Given the description of an element on the screen output the (x, y) to click on. 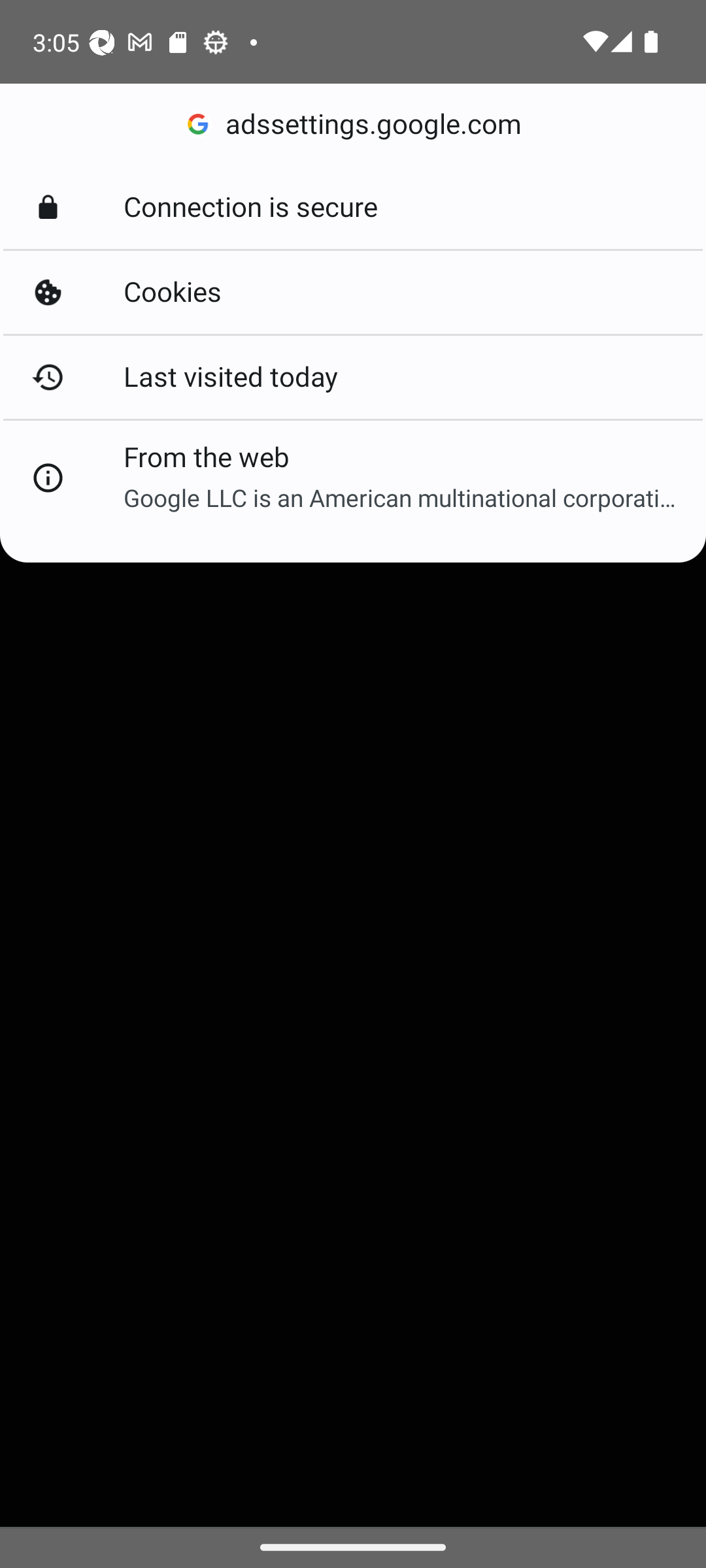
adssettings.google.com (353, 124)
Connection is secure (353, 207)
Cookies (353, 291)
Last visited today (353, 376)
